Given the description of an element on the screen output the (x, y) to click on. 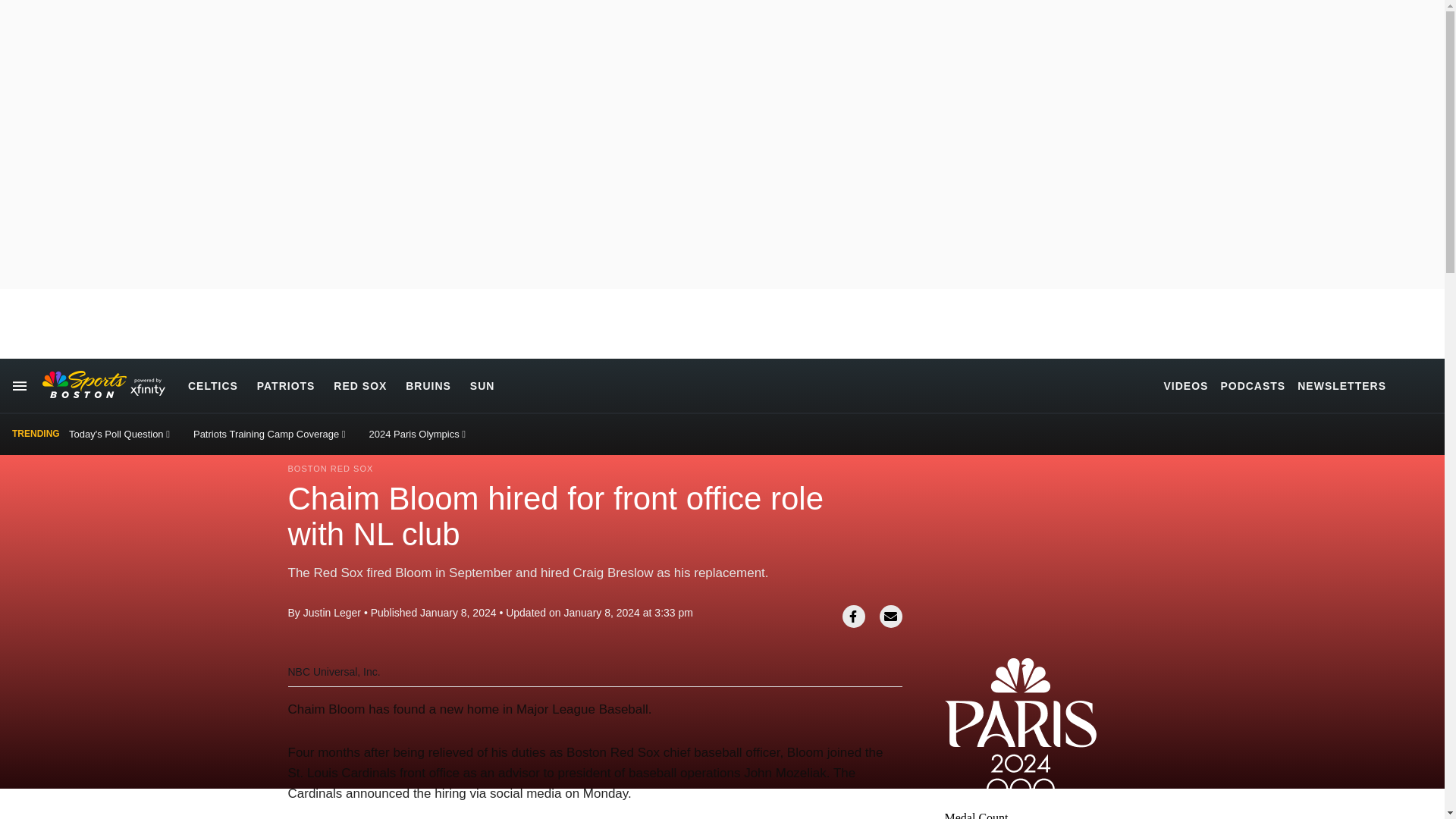
CELTICS (212, 385)
PATRIOTS (286, 385)
SUN (482, 385)
BRUINS (428, 385)
BOSTON RED SOX (331, 469)
Justin Leger (331, 612)
NEWSLETTERS (1341, 385)
RED SOX (360, 385)
VIDEOS (1185, 385)
PODCASTS (1252, 385)
